Given the description of an element on the screen output the (x, y) to click on. 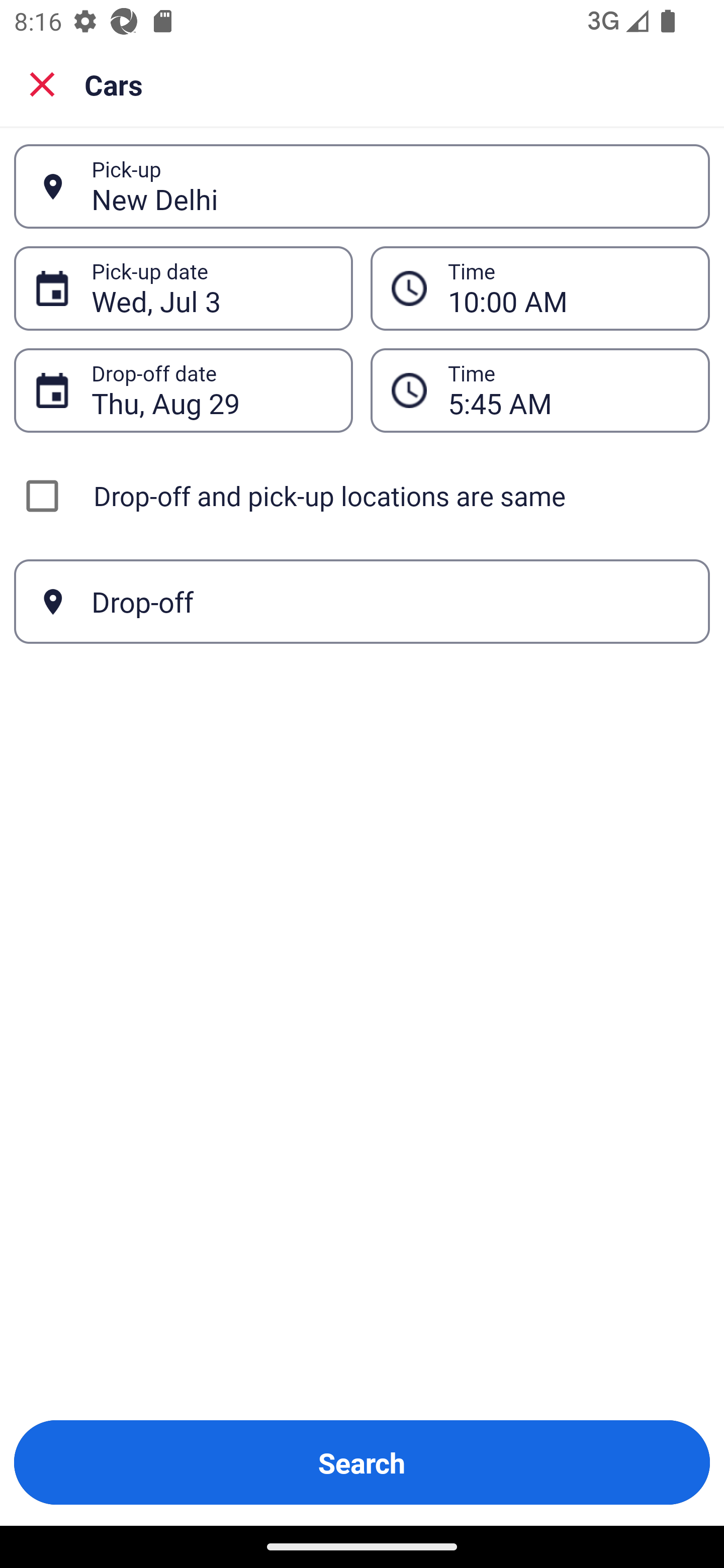
Close search screen (41, 83)
New Delhi Pick-up (361, 186)
New Delhi (389, 186)
Wed, Jul 3 Pick-up date (183, 288)
10:00 AM (540, 288)
Wed, Jul 3 (211, 288)
10:00 AM (568, 288)
Thu, Aug 29 Drop-off date (183, 390)
5:45 AM (540, 390)
Thu, Aug 29 (211, 390)
5:45 AM (568, 390)
Drop-off and pick-up locations are same (361, 495)
Drop-off (361, 601)
Search Button Search (361, 1462)
